Given the description of an element on the screen output the (x, y) to click on. 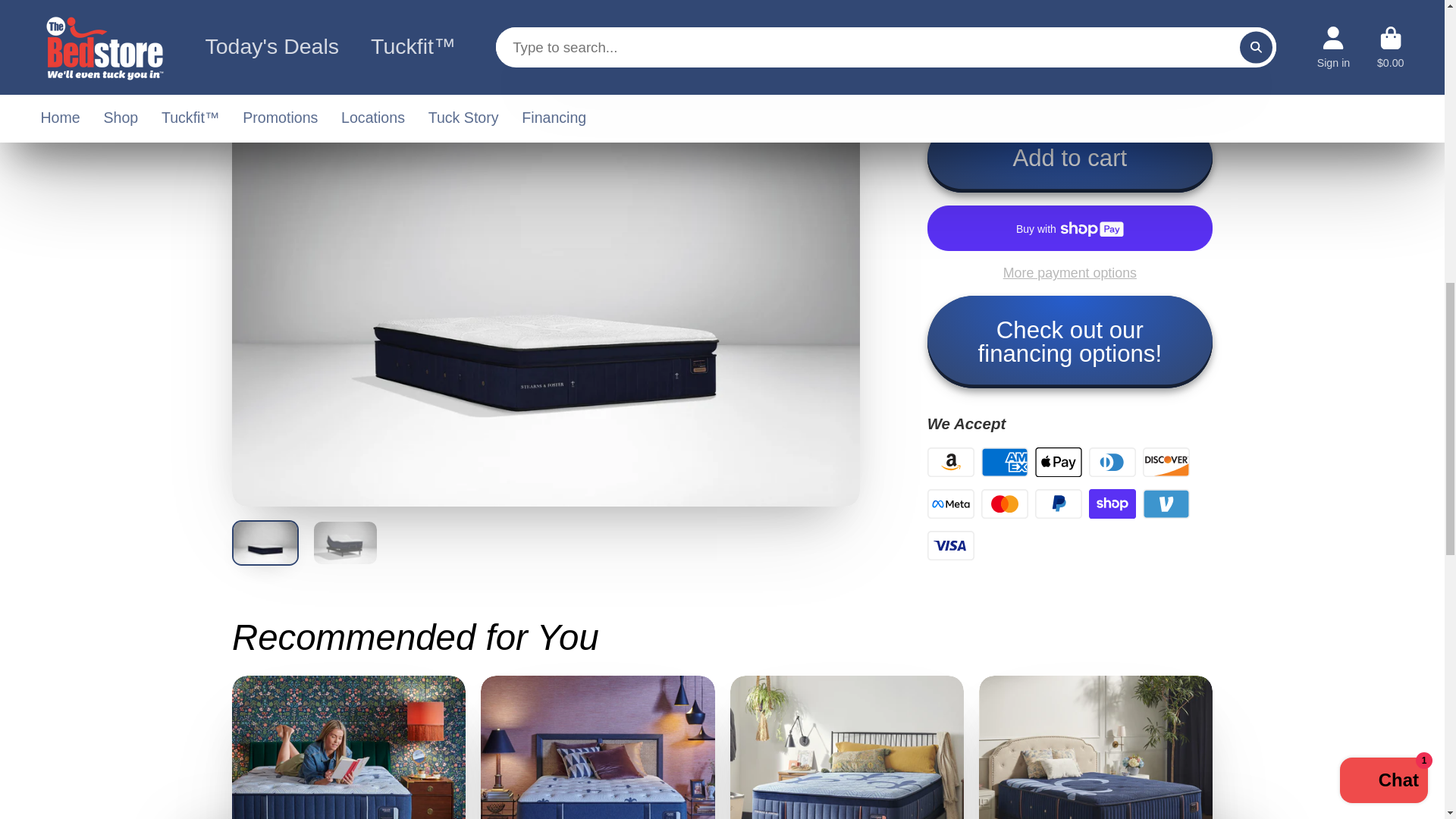
Meta Pay (950, 503)
Add to cart (1069, 157)
Check out our financing options! (1069, 341)
Apple Pay (1058, 462)
Mastercard (1004, 503)
Discover (1165, 462)
More payment options (1069, 272)
American Express (1004, 462)
Diners Club (1112, 462)
Amazon (950, 462)
Shop Pay (1112, 503)
Venmo (1165, 503)
PayPal (1058, 503)
